Given the description of an element on the screen output the (x, y) to click on. 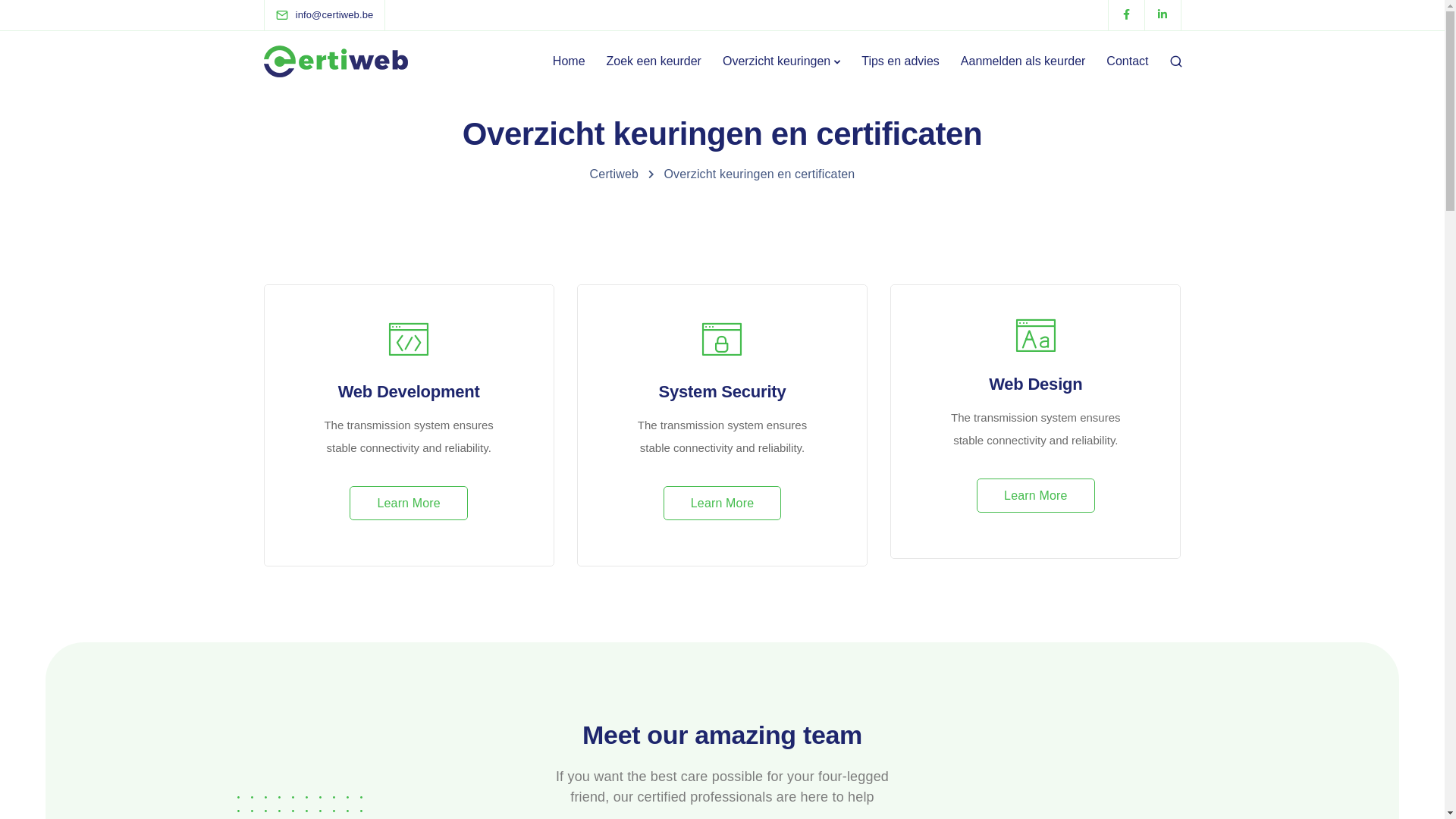
Aanmelden als keurder Element type: text (1023, 61)
Learn More Element type: text (1035, 495)
info@certiweb.be Element type: text (334, 14)
Certiweb Element type: text (613, 173)
Tips en advies Element type: text (900, 61)
Learn More Element type: text (408, 503)
Contact Element type: text (1126, 61)
Learn More Element type: text (722, 503)
Overzicht keuringen Element type: text (781, 61)
Home Element type: text (569, 61)
Zoek een keurder Element type: text (654, 61)
